Given the description of an element on the screen output the (x, y) to click on. 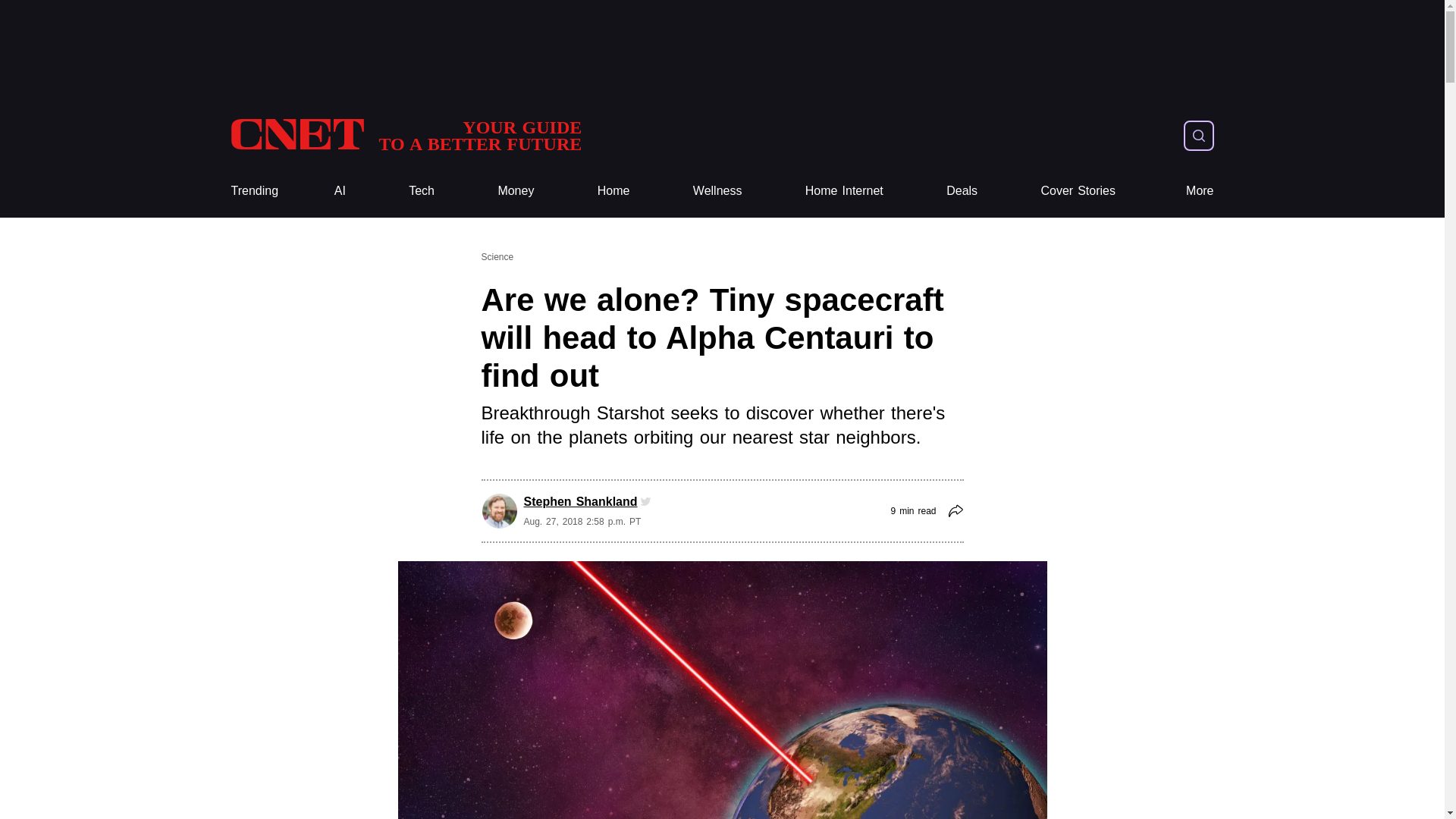
Trending (254, 190)
Tech (421, 190)
Money (515, 190)
Trending (254, 190)
CNET (405, 135)
Home (405, 135)
Home (613, 190)
More (613, 190)
Home Internet (1199, 190)
Wellness (844, 190)
Home Internet (717, 190)
Tech (844, 190)
Money (421, 190)
Wellness (515, 190)
